Given the description of an element on the screen output the (x, y) to click on. 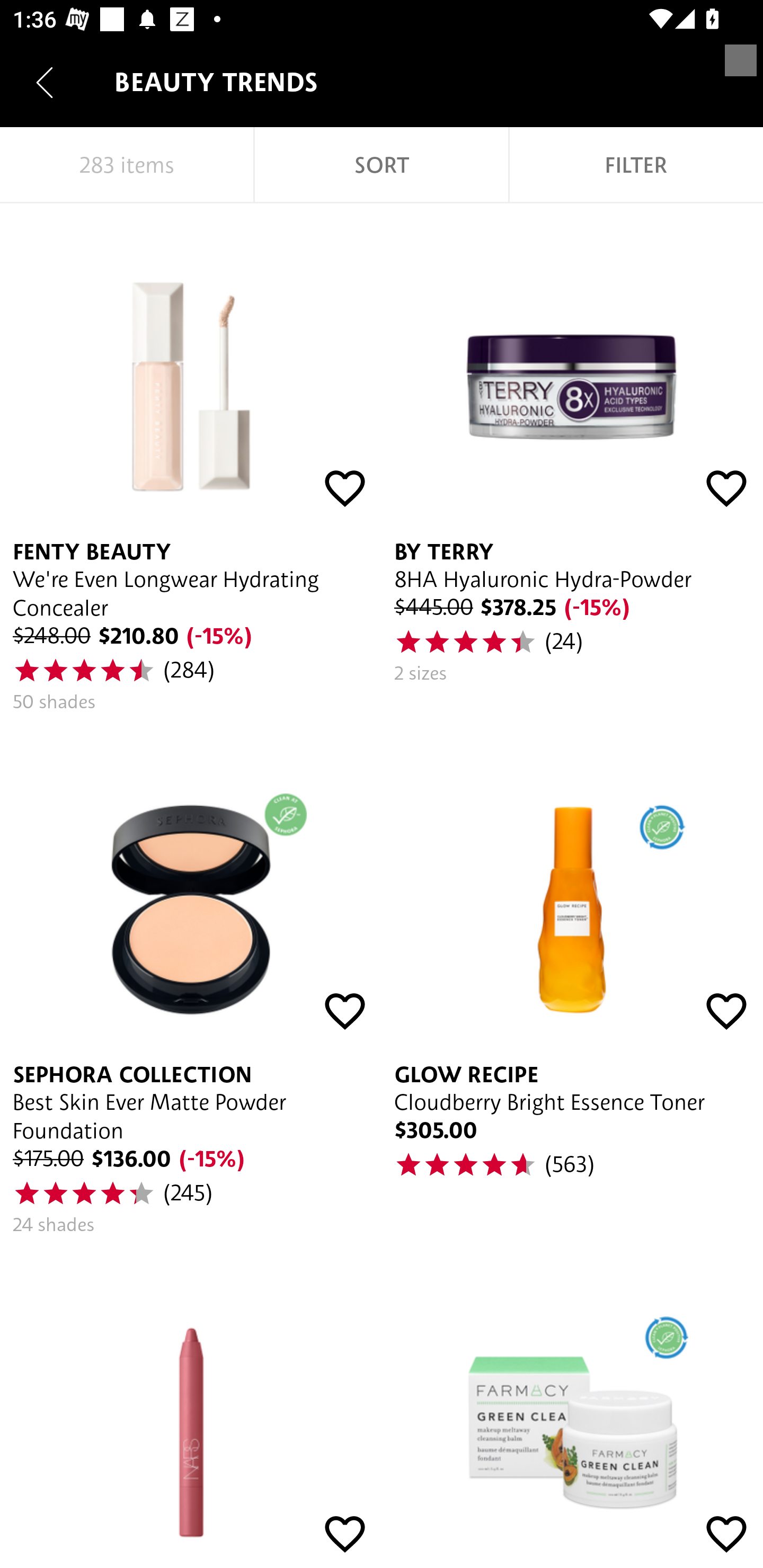
Navigate up (44, 82)
SORT (381, 165)
FILTER (636, 165)
